Given the description of an element on the screen output the (x, y) to click on. 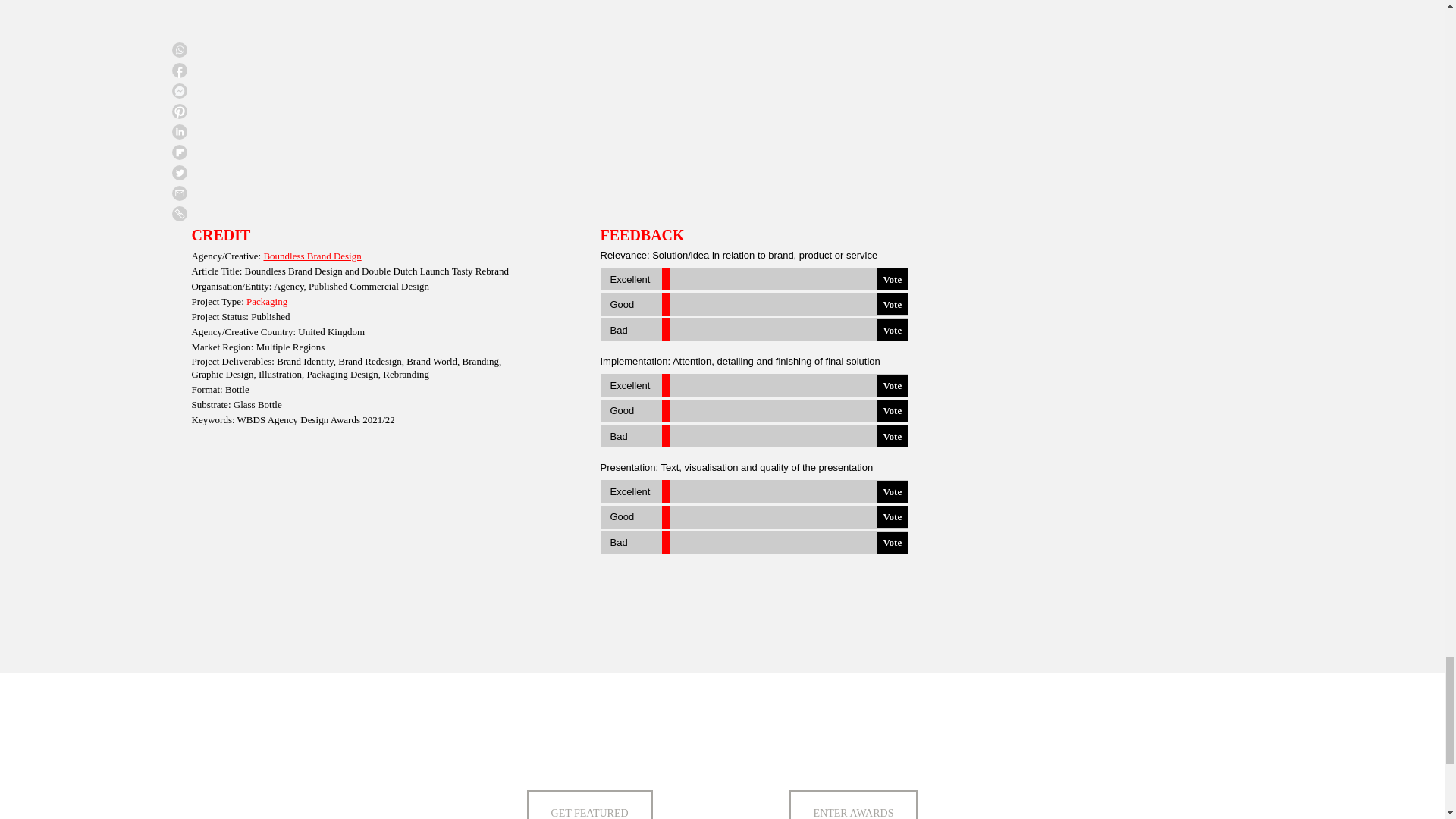
Boundless Brand Design (312, 255)
Packaging (266, 301)
